Given the description of an element on the screen output the (x, y) to click on. 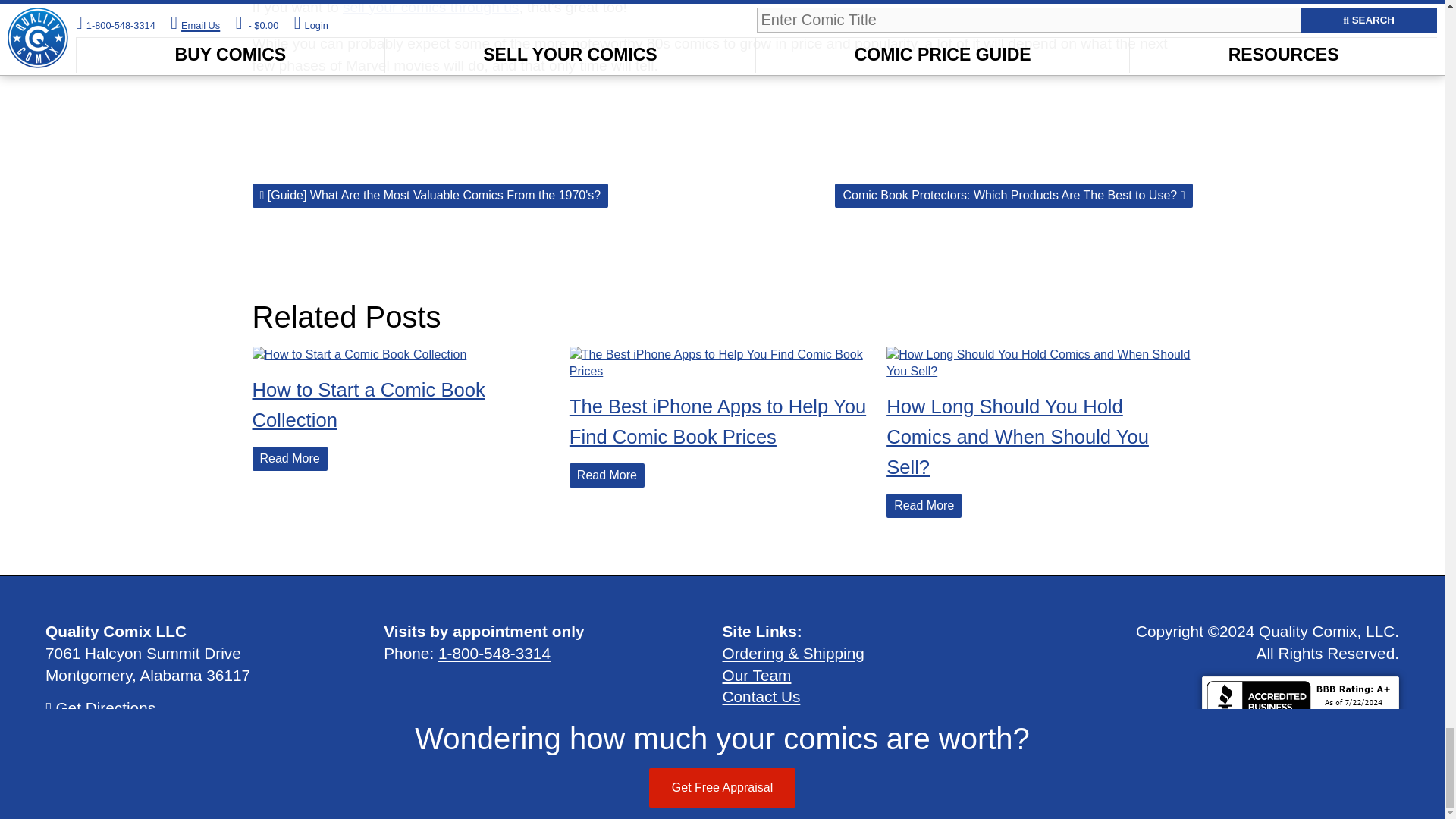
Quality Comix, LLC, Comic Book, Montgomery, AL (1301, 699)
